Given the description of an element on the screen output the (x, y) to click on. 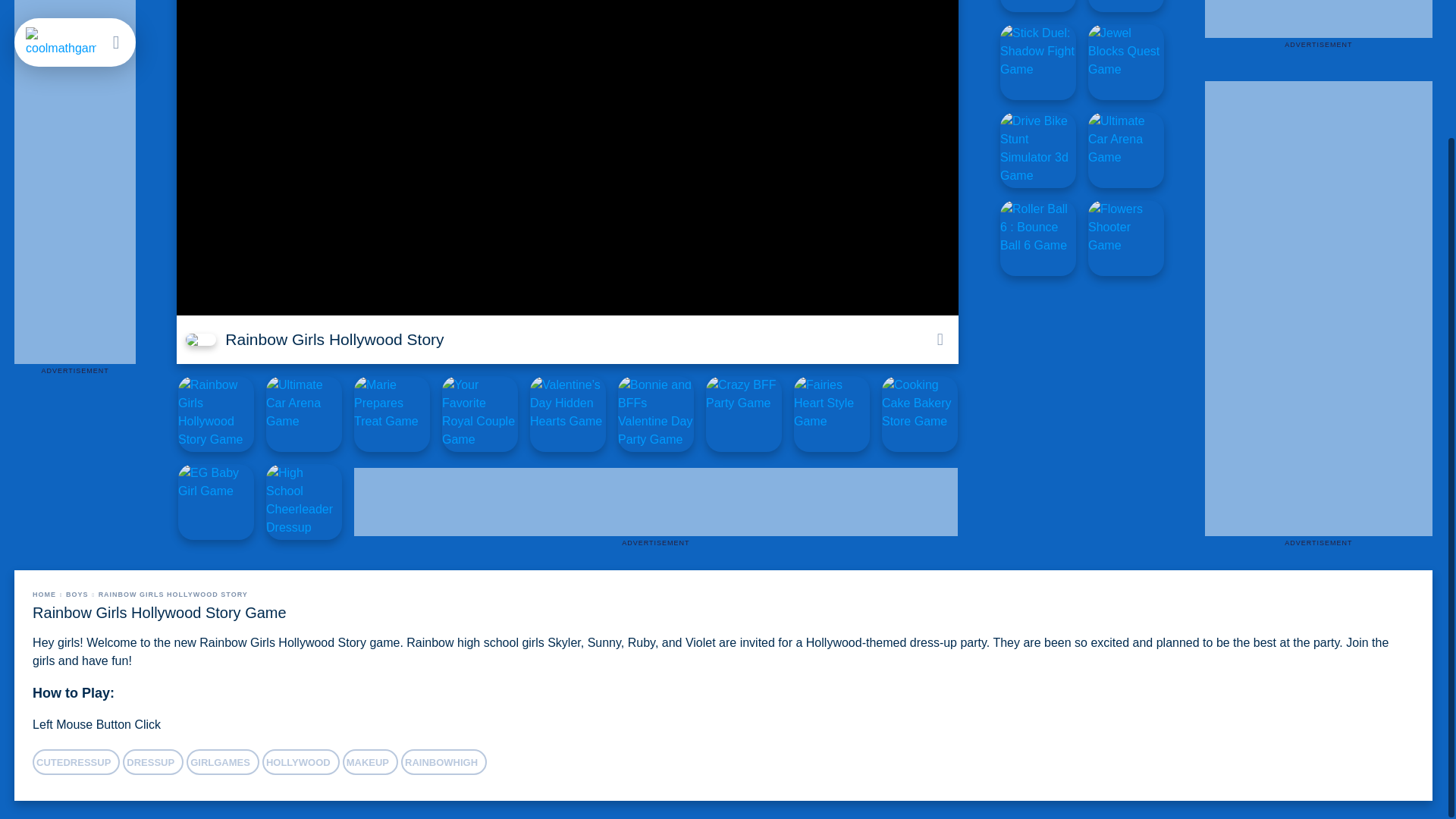
on (939, 339)
hollywood (300, 761)
makeup (369, 761)
girlgames (222, 761)
cutedressup (75, 761)
rainbowhigh (443, 761)
dressup (152, 761)
